Given the description of an element on the screen output the (x, y) to click on. 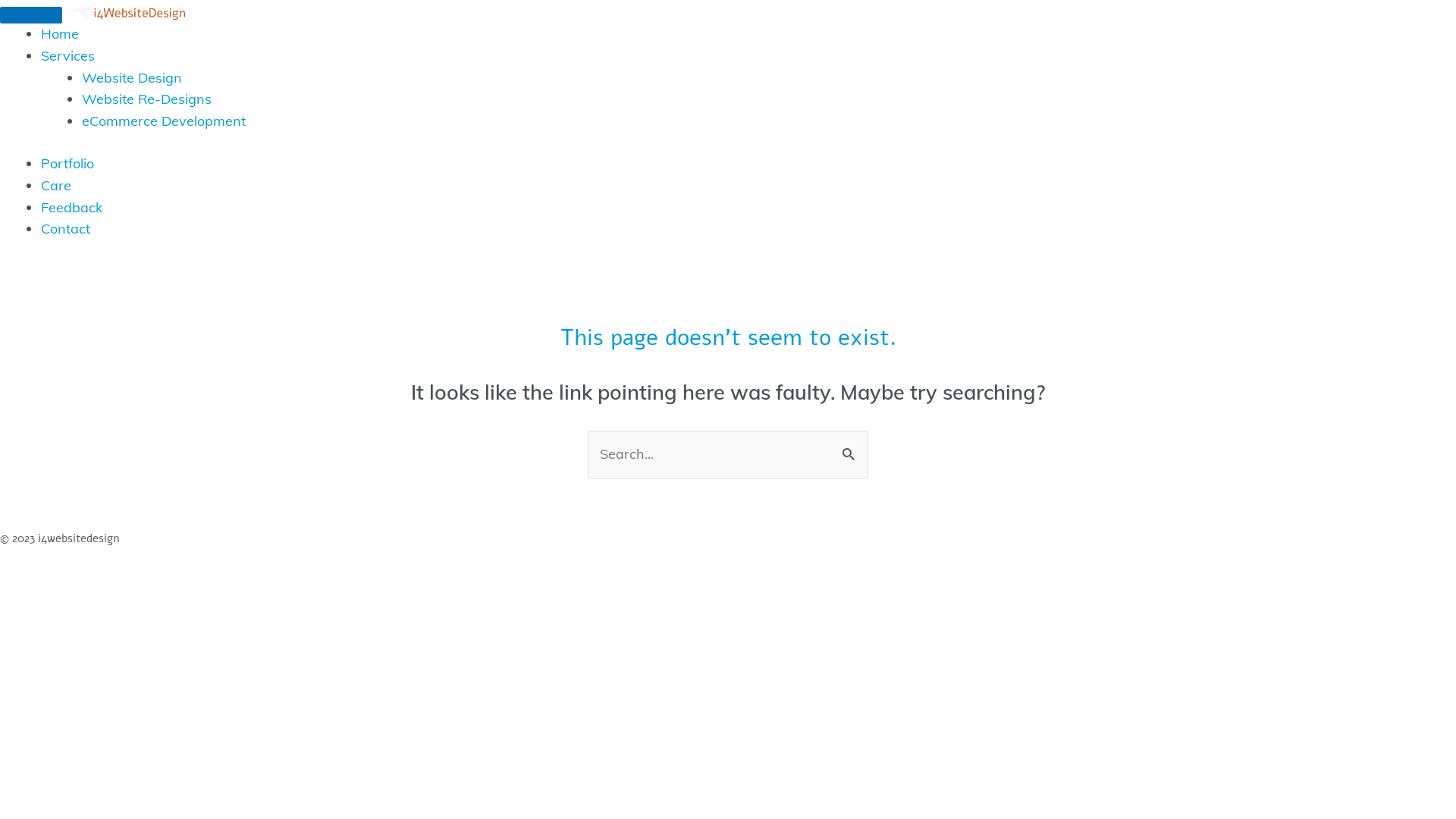
Website Re-Designs Element type: text (146, 98)
Website Design Element type: text (131, 77)
eCommerce Development Element type: text (163, 120)
Search Element type: text (851, 452)
Feedback Element type: text (71, 207)
Services Element type: text (67, 55)
Home Element type: text (59, 33)
Contact Element type: text (65, 228)
Portfolio Element type: text (67, 163)
Care Element type: text (55, 185)
